Given the description of an element on the screen output the (x, y) to click on. 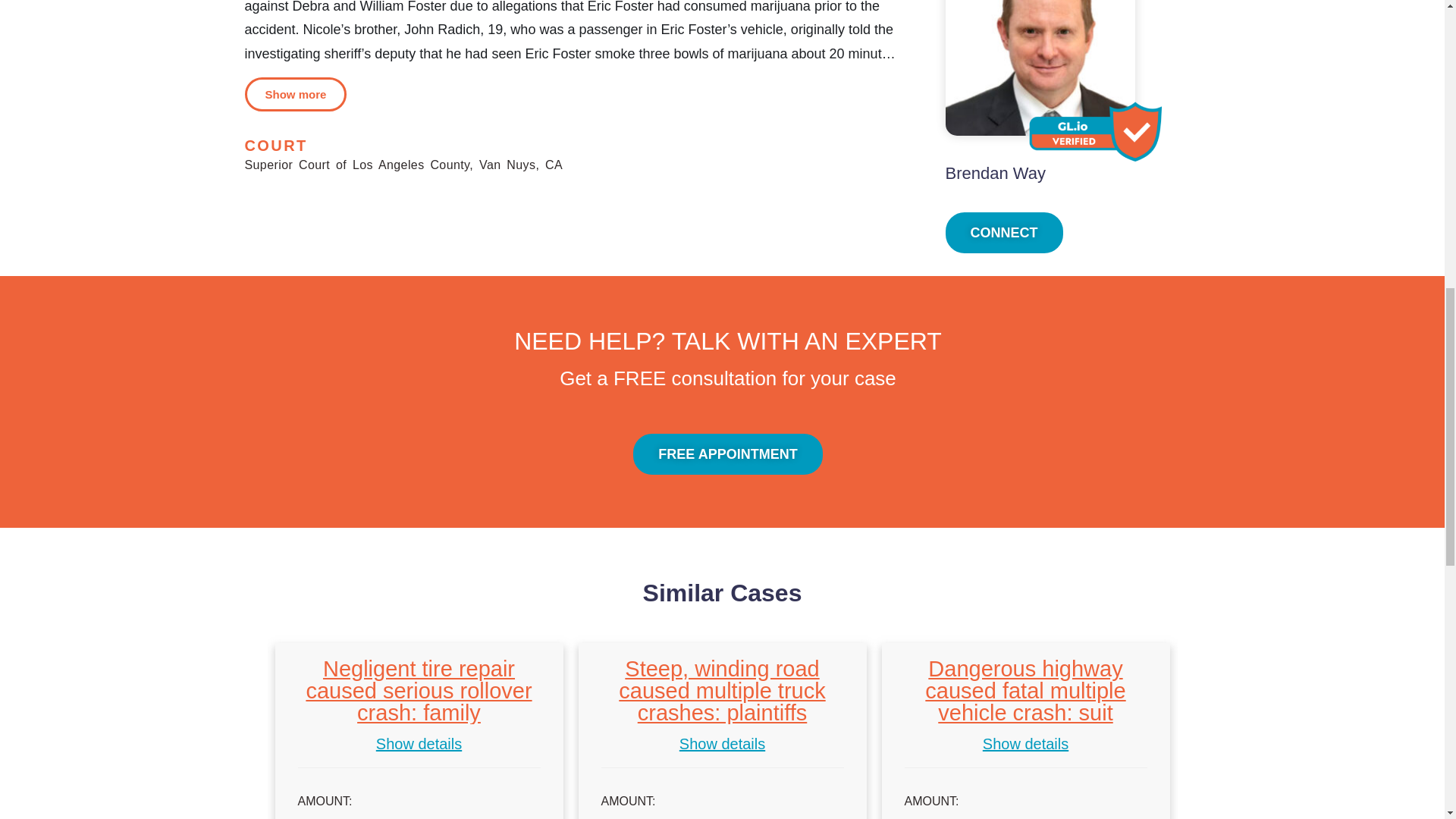
CONNECT (1003, 232)
Show more (295, 93)
FREE APPOINTMENT (727, 454)
Brendan Way (994, 172)
